Given the description of an element on the screen output the (x, y) to click on. 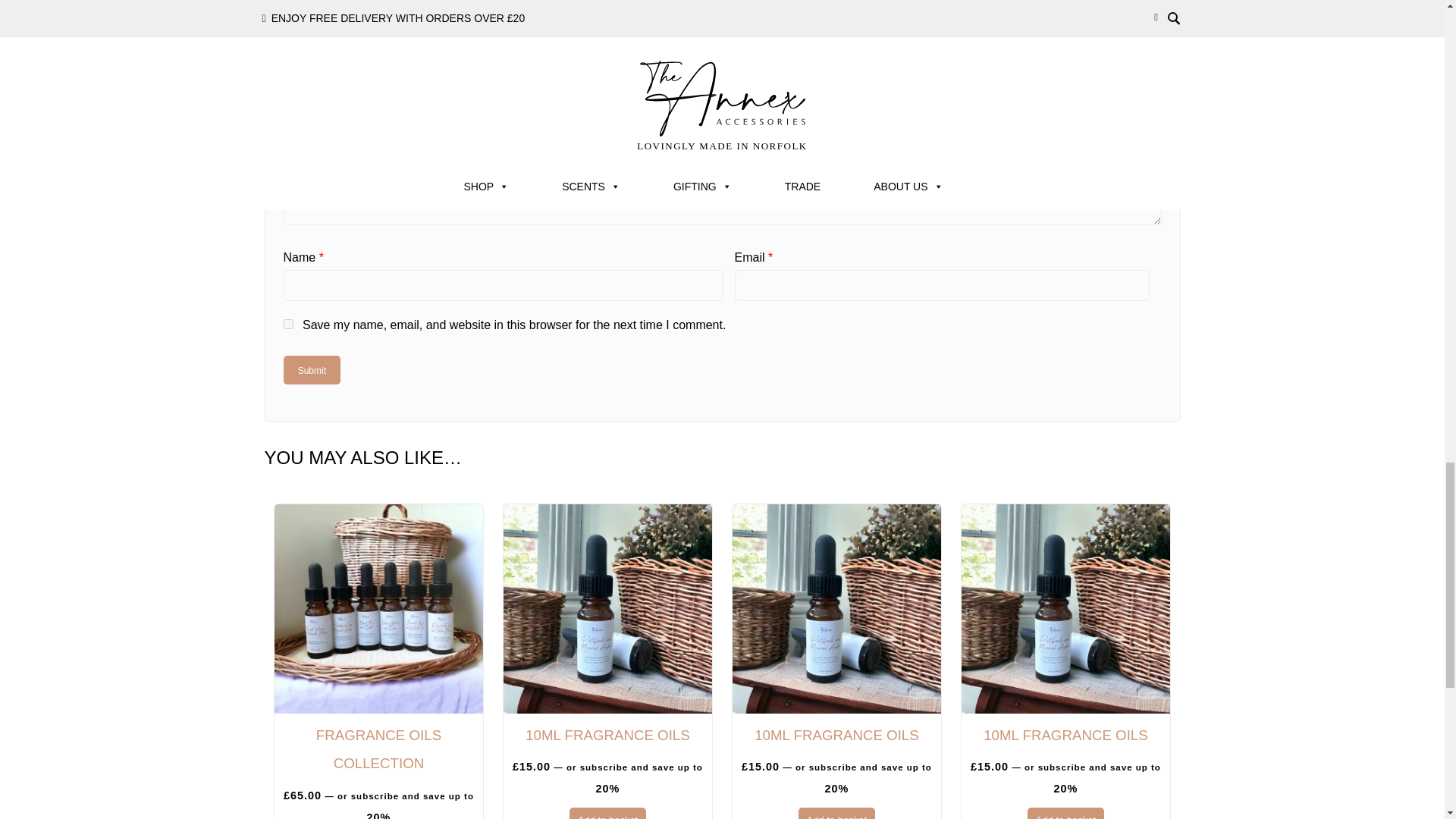
yes (288, 324)
Submit (311, 369)
